Given the description of an element on the screen output the (x, y) to click on. 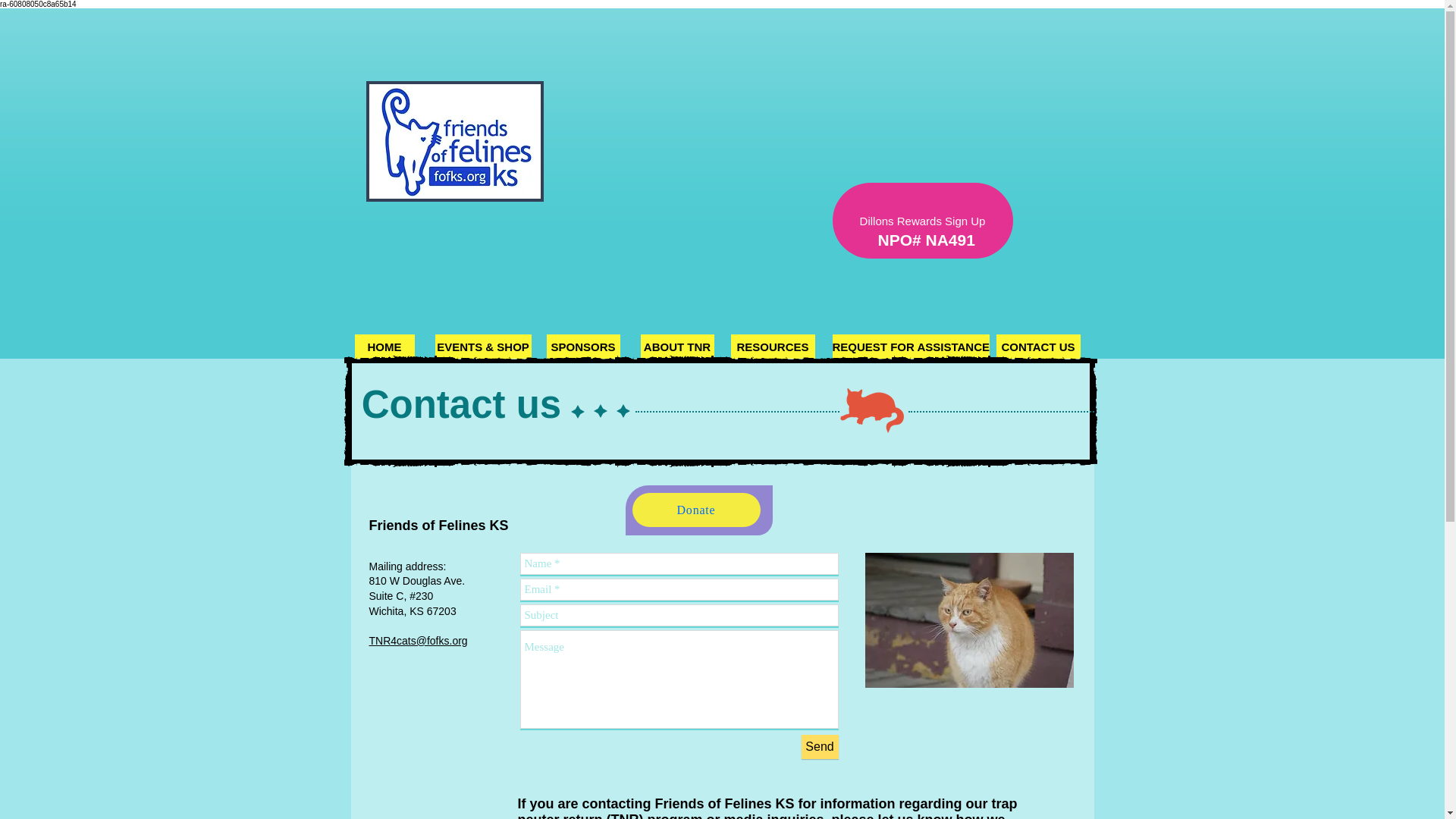
REQUEST FOR ASSISTANCE (911, 346)
CONTACT US (1037, 346)
051.JPG (968, 619)
Donate (695, 510)
ABOUT TNR (676, 346)
SPONSORS (583, 346)
RESOURCES (772, 346)
HOME (384, 346)
Send (819, 746)
Dillons Rewards Sign Up (922, 220)
